Given the description of an element on the screen output the (x, y) to click on. 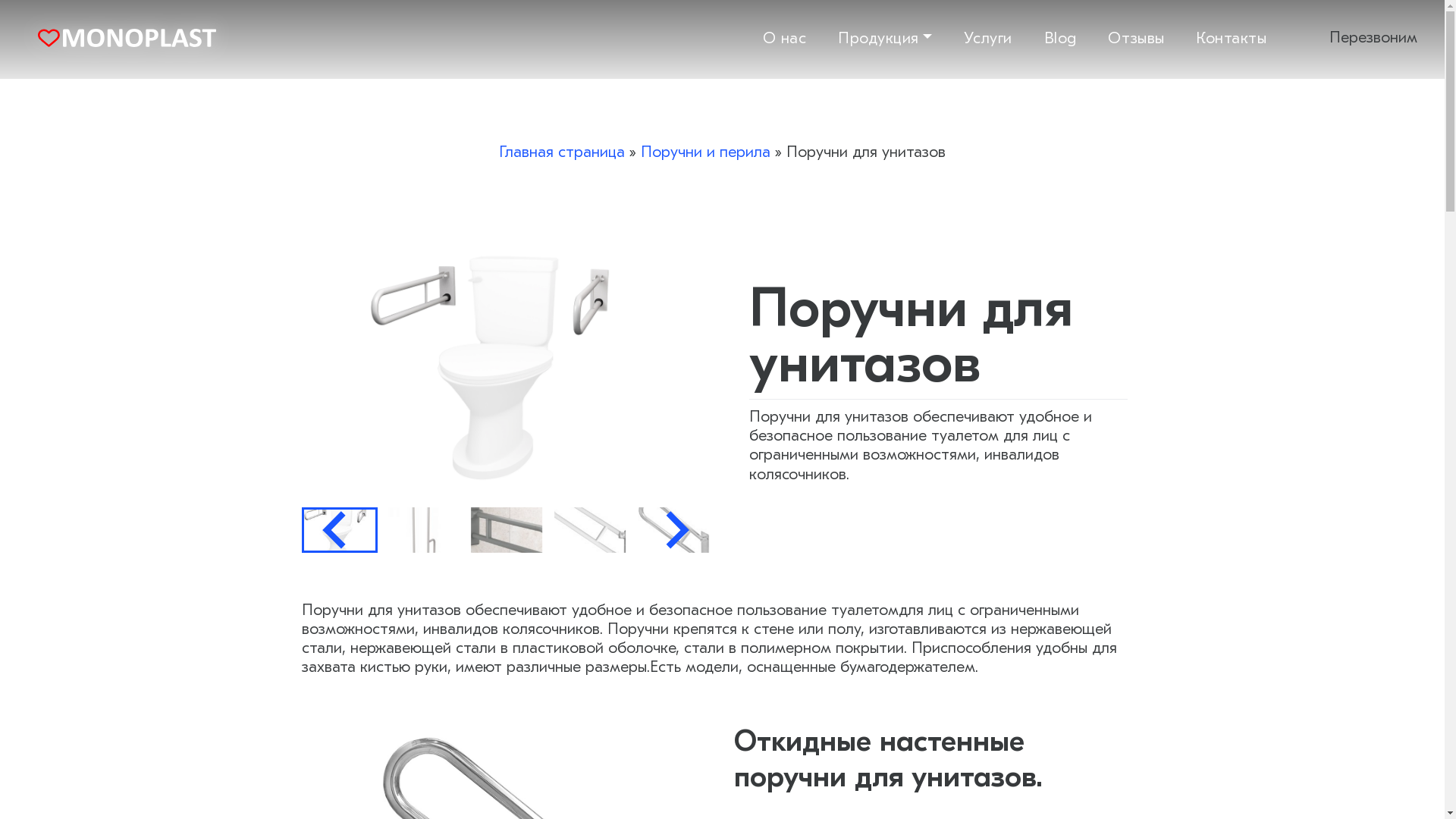
Blog Element type: text (1044, 37)
